Given the description of an element on the screen output the (x, y) to click on. 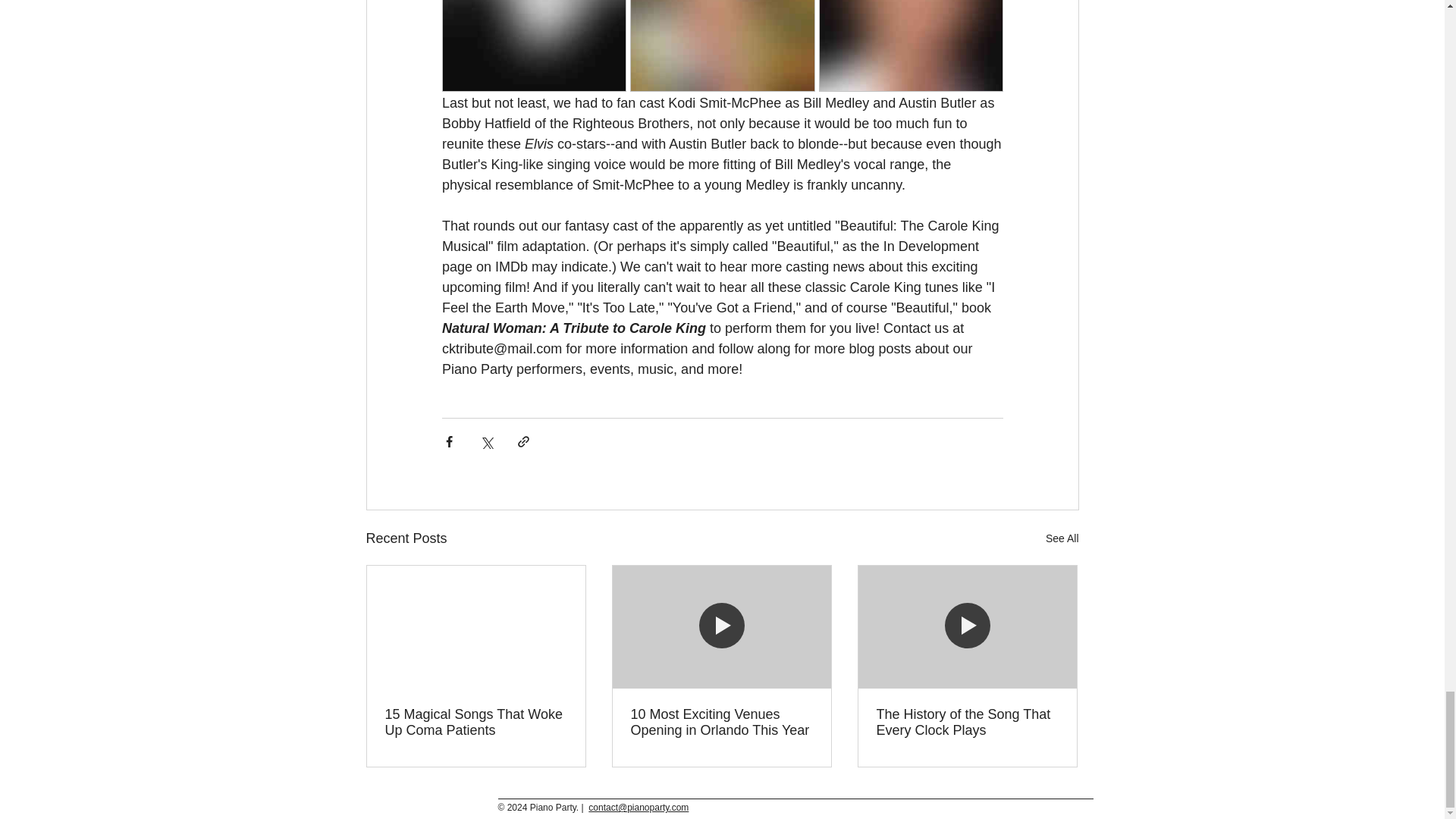
The History of the Song That Every Clock Plays (967, 722)
See All (1061, 538)
15 Magical Songs That Woke Up Coma Patients (476, 722)
10 Most Exciting Venues Opening in Orlando This Year (721, 722)
